Given the description of an element on the screen output the (x, y) to click on. 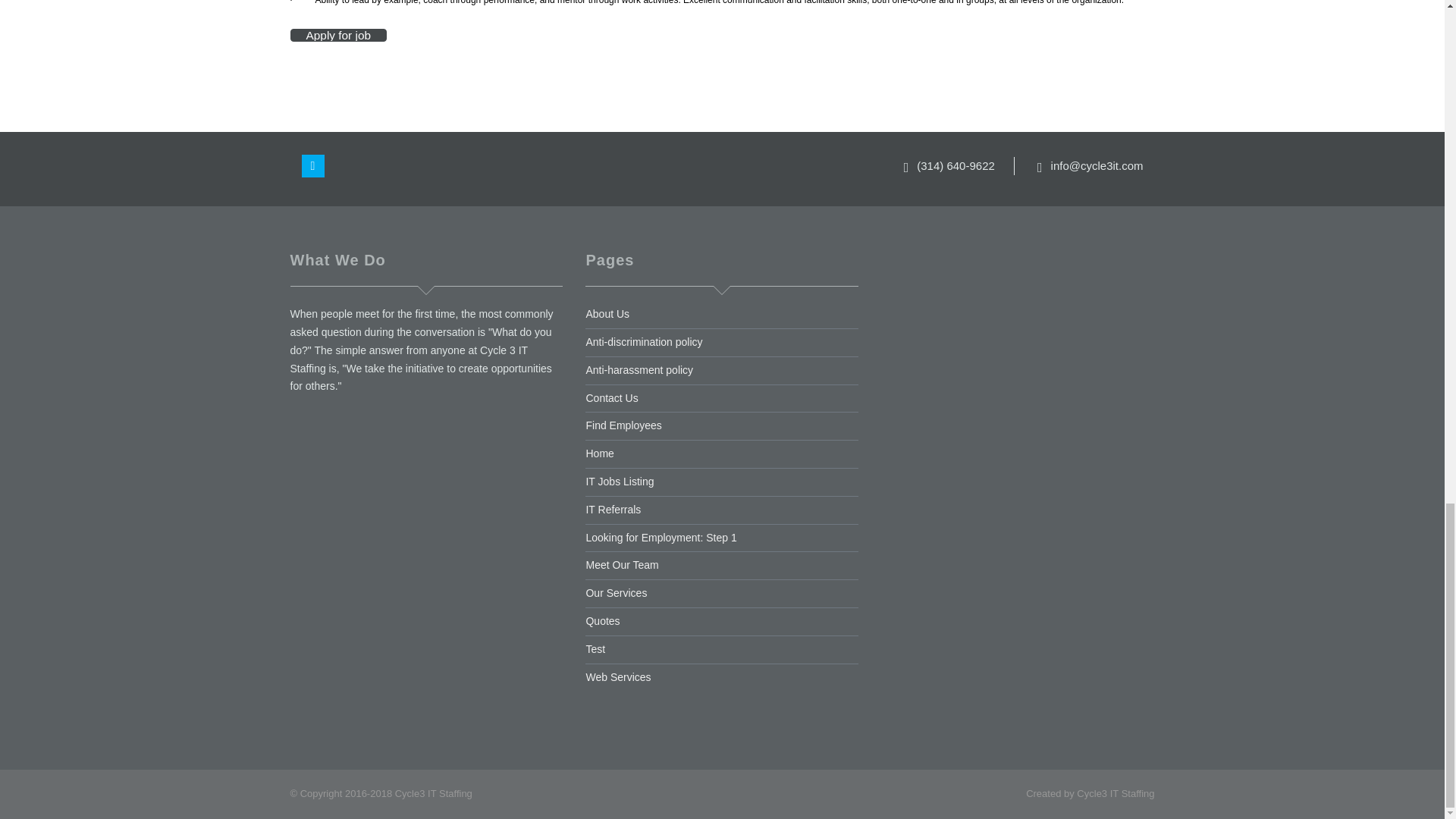
IT Jobs Listing (619, 481)
Our Services (615, 592)
Test (595, 648)
Looking for Employment: Step 1 (660, 537)
Apply for job (338, 34)
Quotes (602, 621)
Anti-harassment policy (639, 369)
IT Referrals (612, 509)
Home (598, 453)
Find Employees (623, 425)
Meet Our Team (621, 564)
Contact Us (611, 398)
Web Services (617, 676)
Anti-discrimination policy (643, 341)
About Us (606, 313)
